Given the description of an element on the screen output the (x, y) to click on. 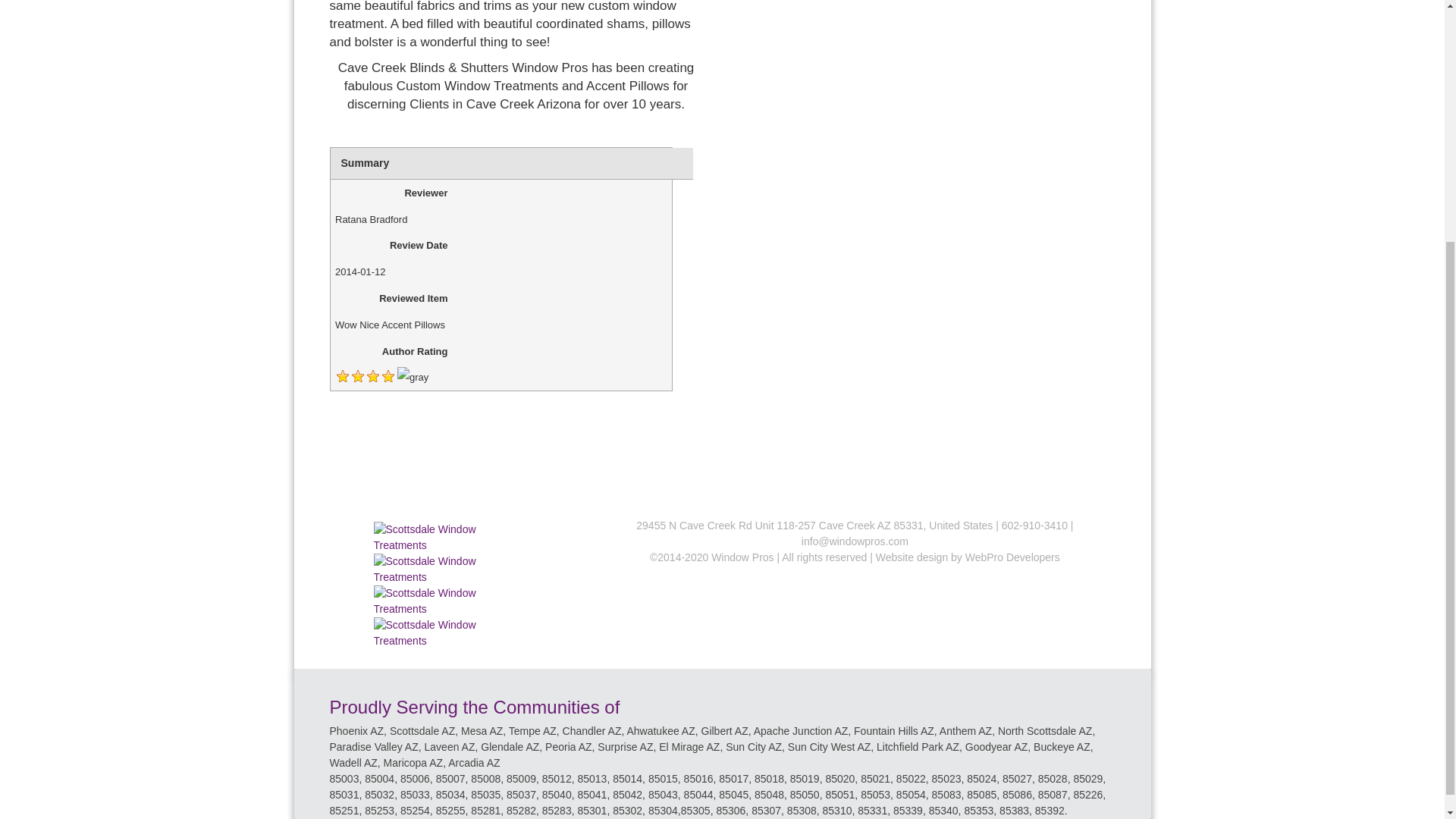
make an appointment (516, 438)
